Given the description of an element on the screen output the (x, y) to click on. 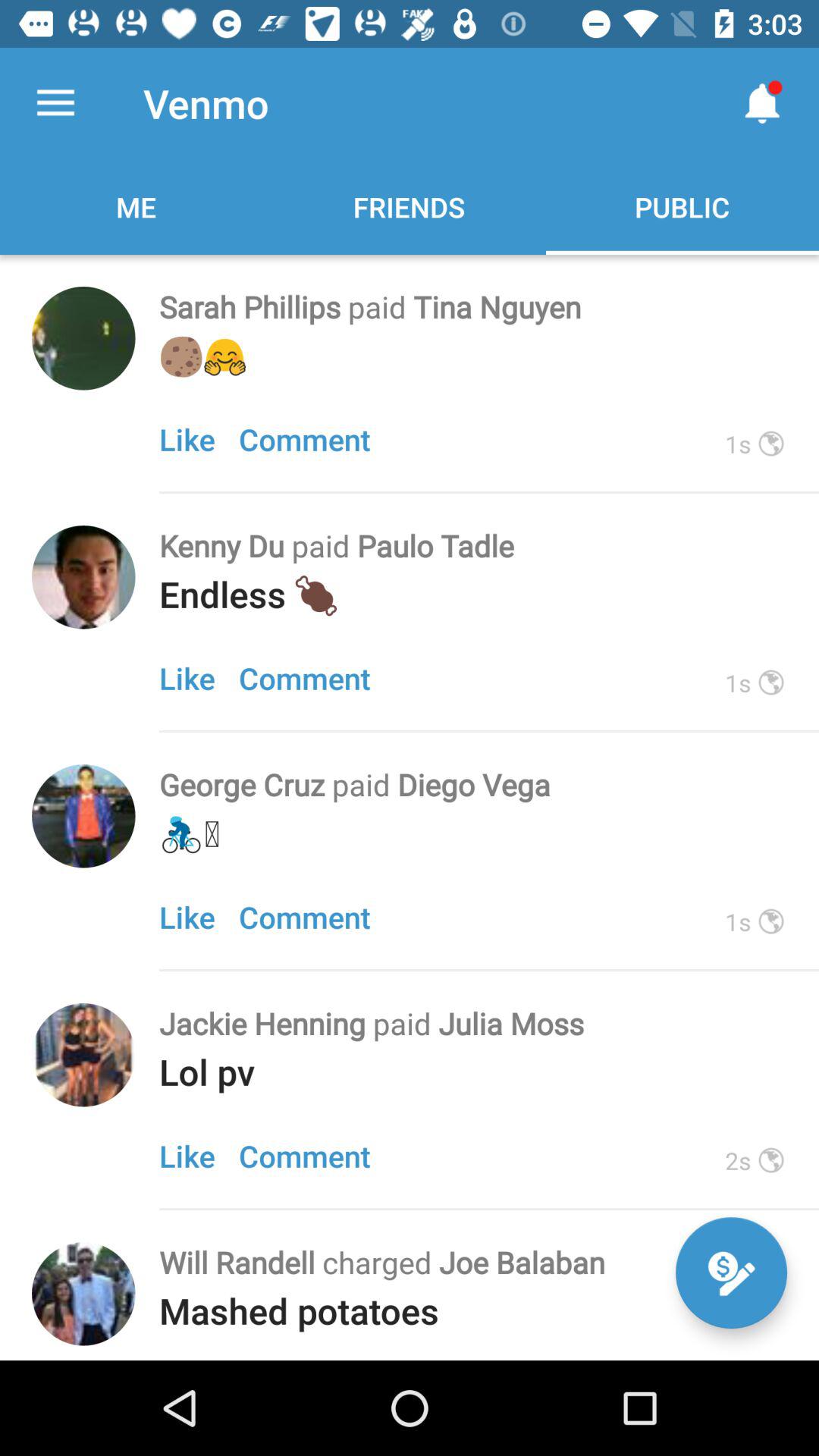
edit enter info for money transfer (731, 1272)
